Given the description of an element on the screen output the (x, y) to click on. 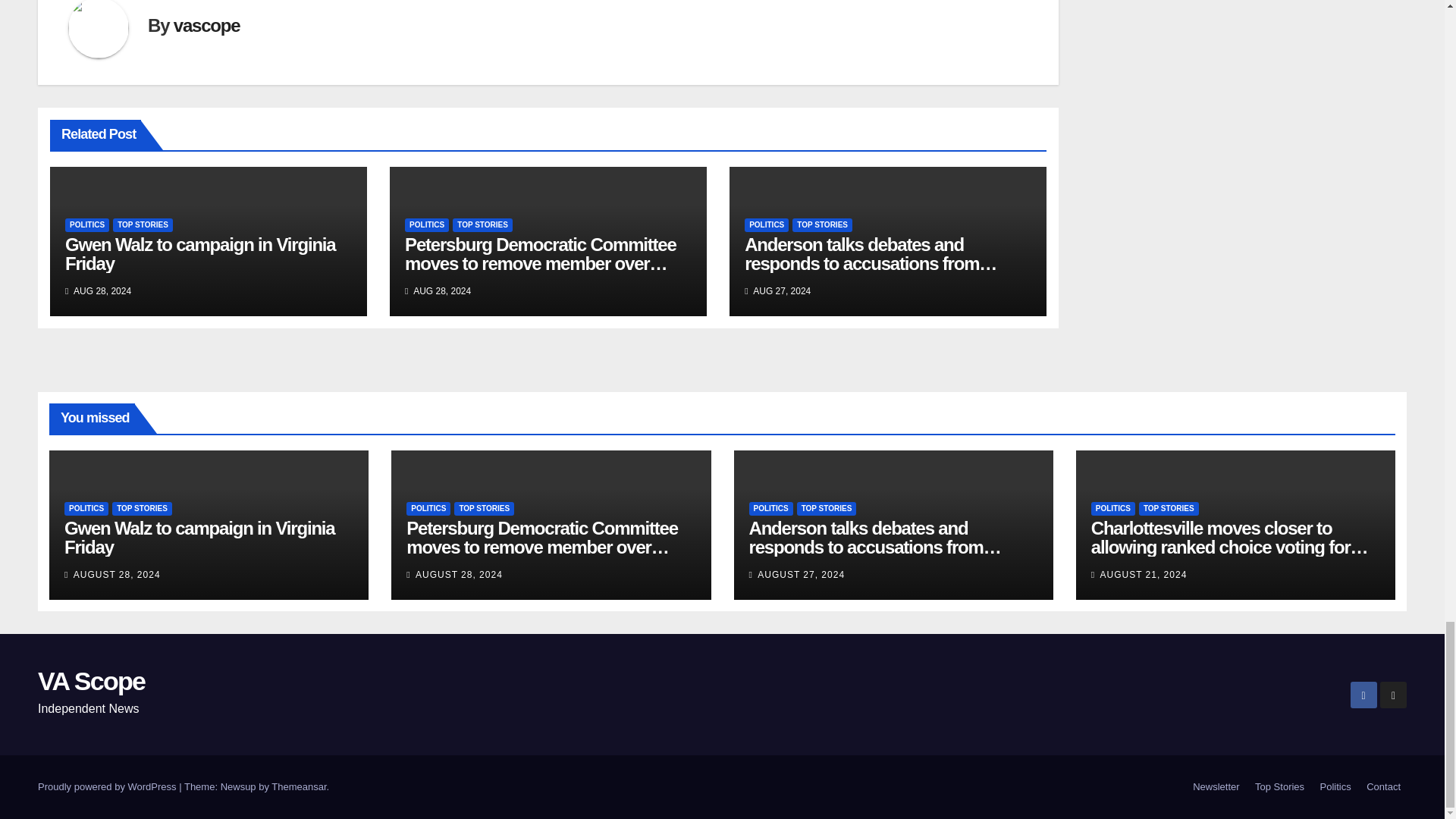
Permalink to: Gwen Walz to campaign in Virginia Friday (199, 253)
Permalink to: Gwen Walz to campaign in Virginia Friday (199, 537)
